Given the description of an element on the screen output the (x, y) to click on. 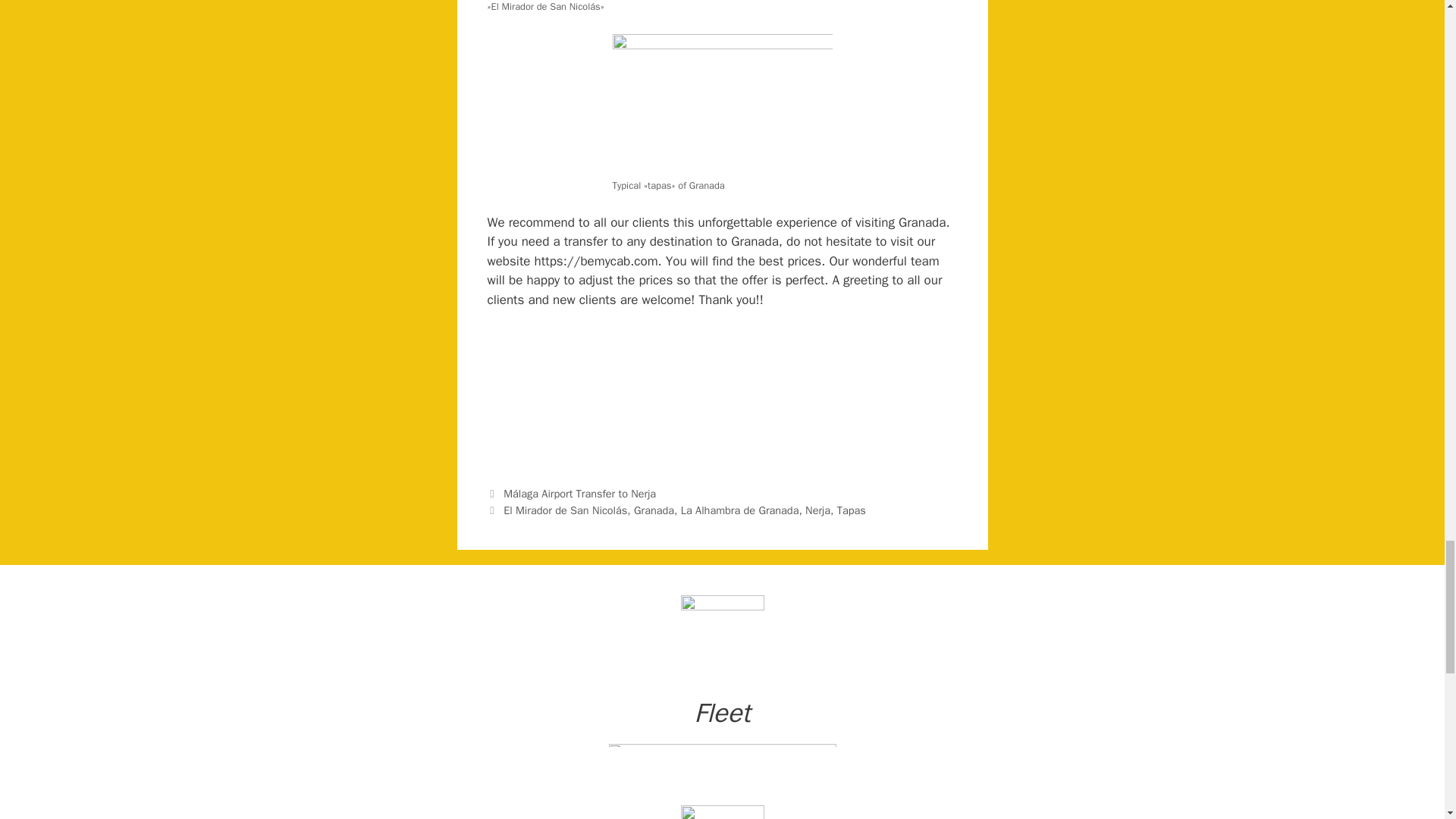
Granada (653, 509)
Nerja (817, 509)
La Alhambra de Granada (740, 509)
Tapas (851, 509)
